Given the description of an element on the screen output the (x, y) to click on. 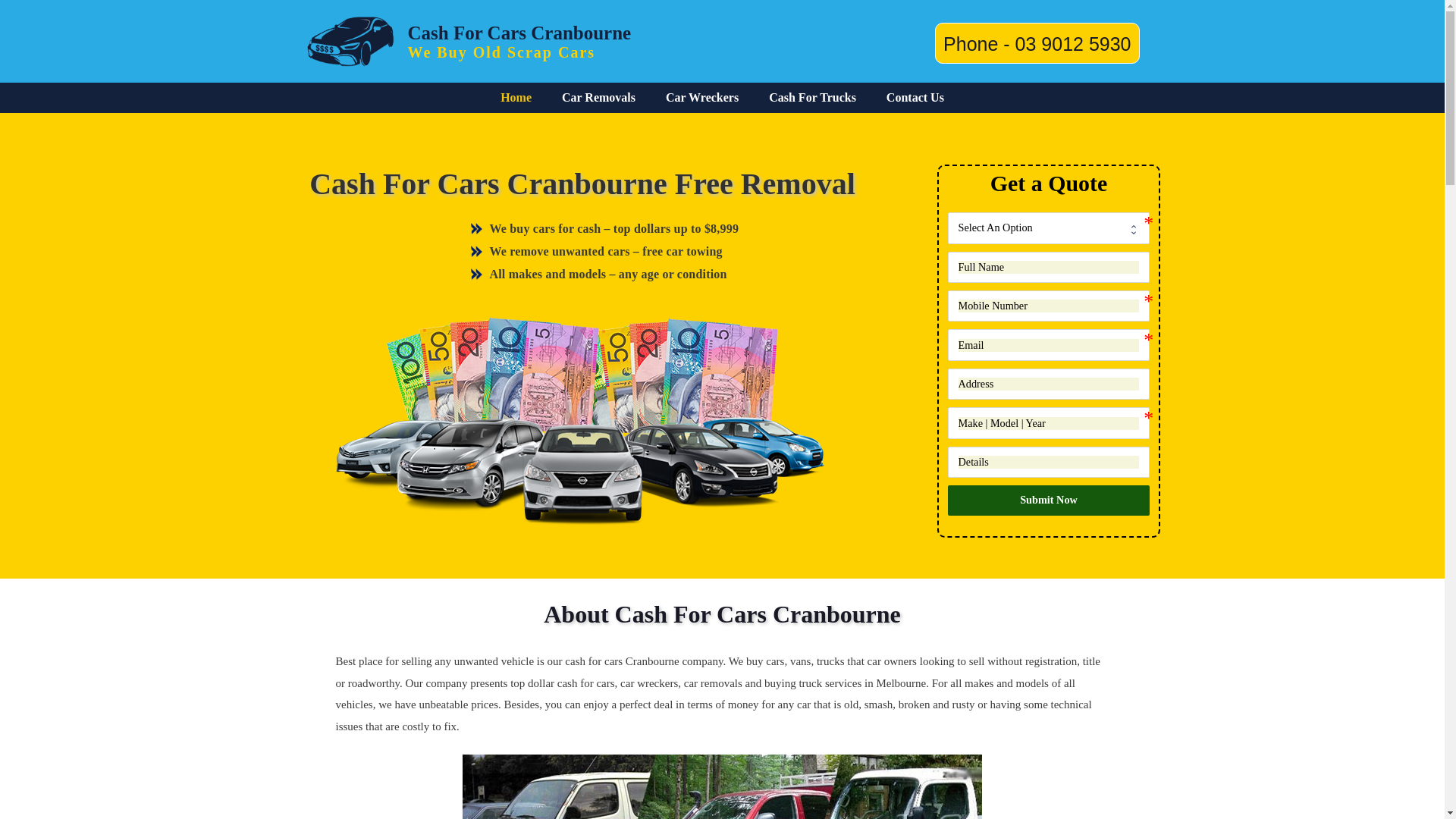
Submit Now Element type: text (1048, 499)
Cash For Trucks Element type: text (812, 97)
Cash For Cars Cranbourne Element type: hover (349, 40)
Contact Us Element type: text (915, 97)
Car Removals Element type: text (598, 97)
Phone - 03 9012 5930 Element type: text (1036, 43)
Cash For Cars Cranbourne Element type: text (519, 32)
Cash For Cars Cranbourne Element type: hover (349, 41)
Home Element type: text (515, 97)
We Pay Cash For Cars Cranbourne Element type: hover (581, 418)
Car Wreckers Element type: text (701, 97)
